Given the description of an element on the screen output the (x, y) to click on. 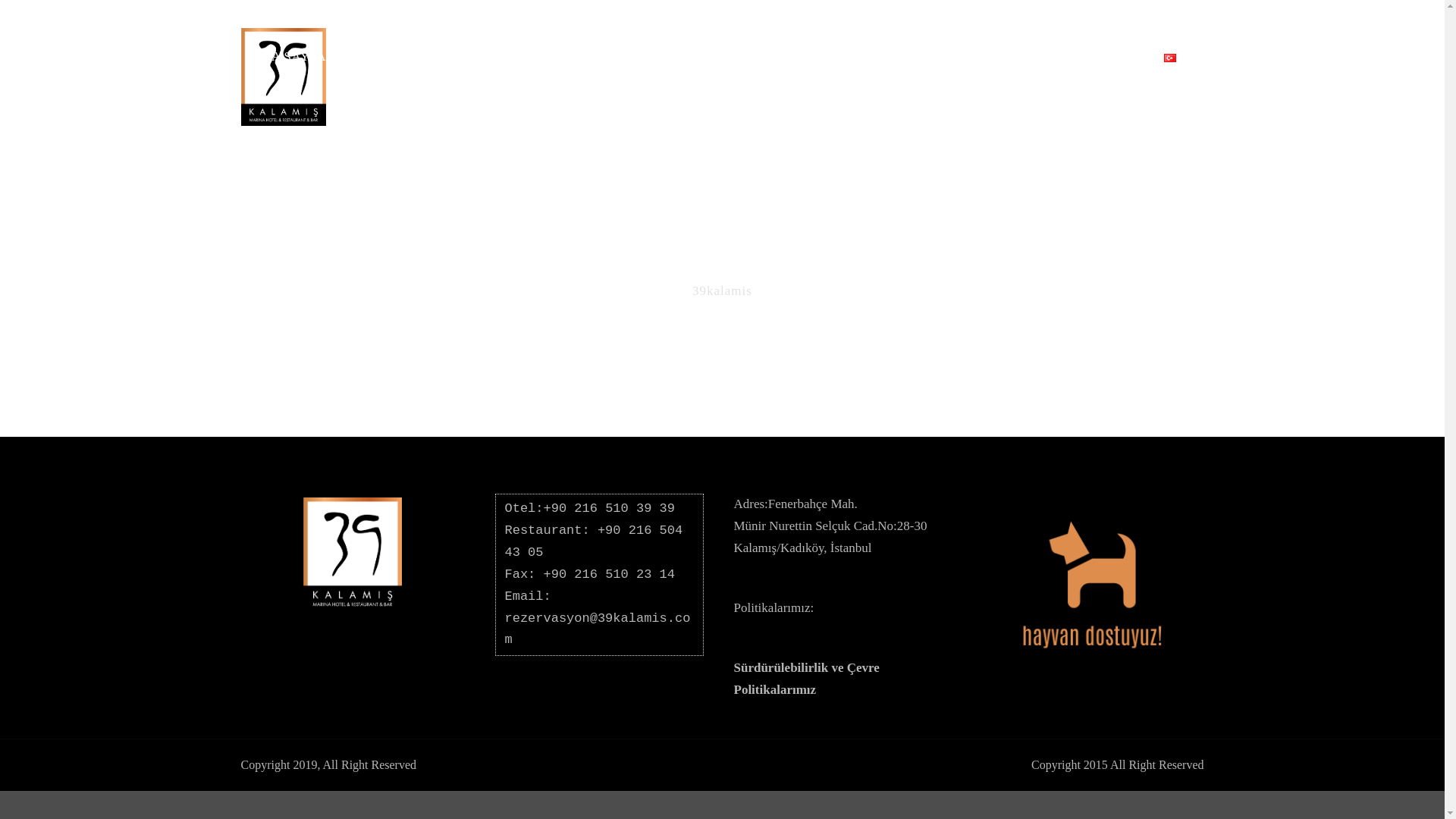
rezervasyon@39kalamis.com Element type: text (597, 629)
HIKAYEMIZ Element type: text (897, 65)
ETKINLIK Element type: text (797, 65)
 +90 216 504 43 05 Element type: text (597, 541)
39 DENEYIM Element type: text (1005, 65)
ANA SAYFA Element type: text (296, 65)
TOPLANTI ODALARI Element type: text (670, 65)
+90 216 510 39 39 Element type: text (608, 508)
RESTAURANT & BAR Element type: text (508, 65)
ODALAR Element type: text (384, 65)
+90 216 510 23 14
Email:  Element type: text (589, 585)
